Given the description of an element on the screen output the (x, y) to click on. 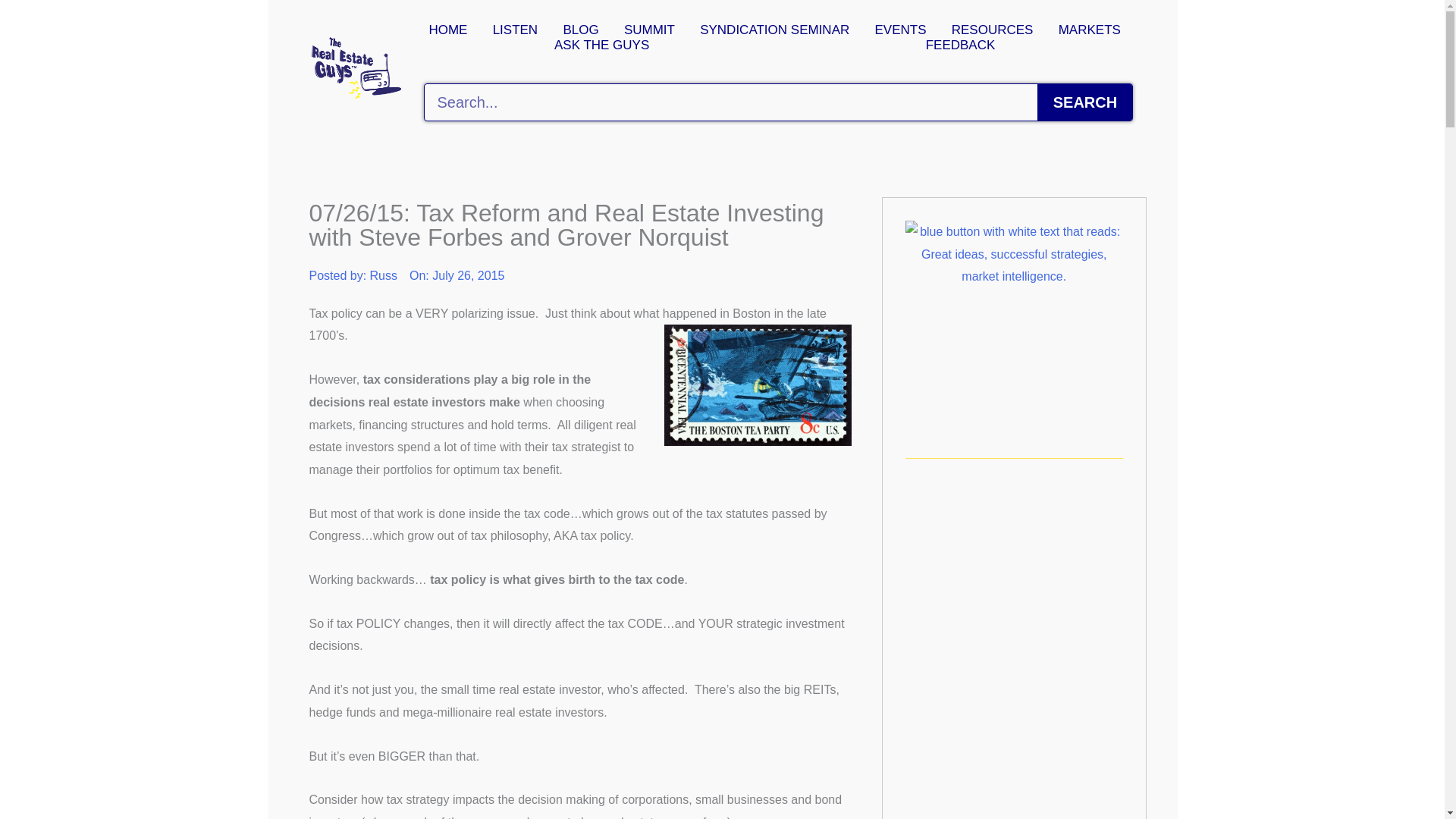
LISTEN (515, 29)
BLOG (580, 29)
EVENTS (900, 29)
SYNDICATION SEMINAR (774, 29)
HOME (448, 29)
SUMMIT (649, 29)
